Given the description of an element on the screen output the (x, y) to click on. 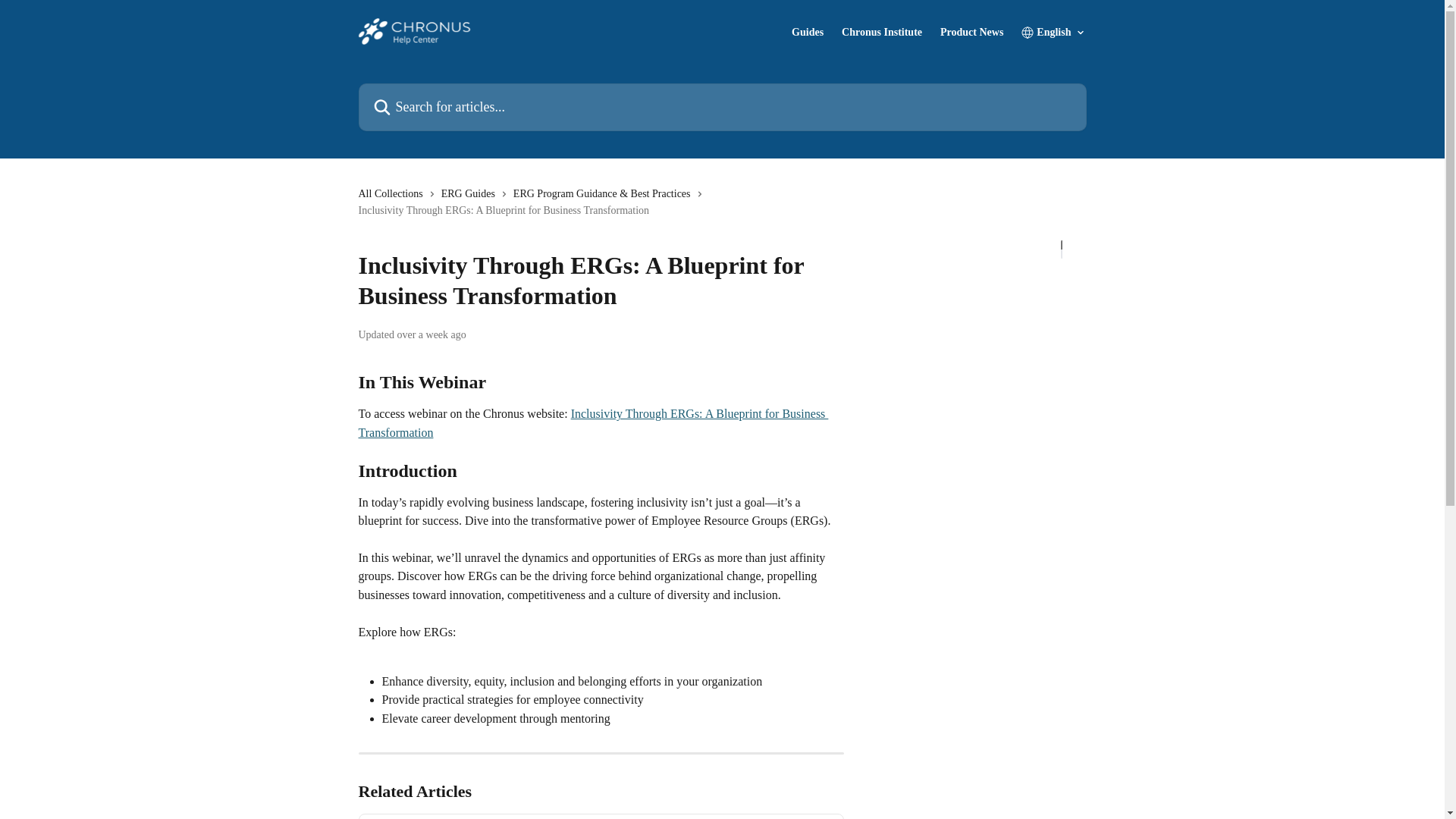
Chronus Institute (881, 32)
ERG Guides (470, 193)
Product News (971, 32)
Guides (808, 32)
All Collections (393, 193)
